Given the description of an element on the screen output the (x, y) to click on. 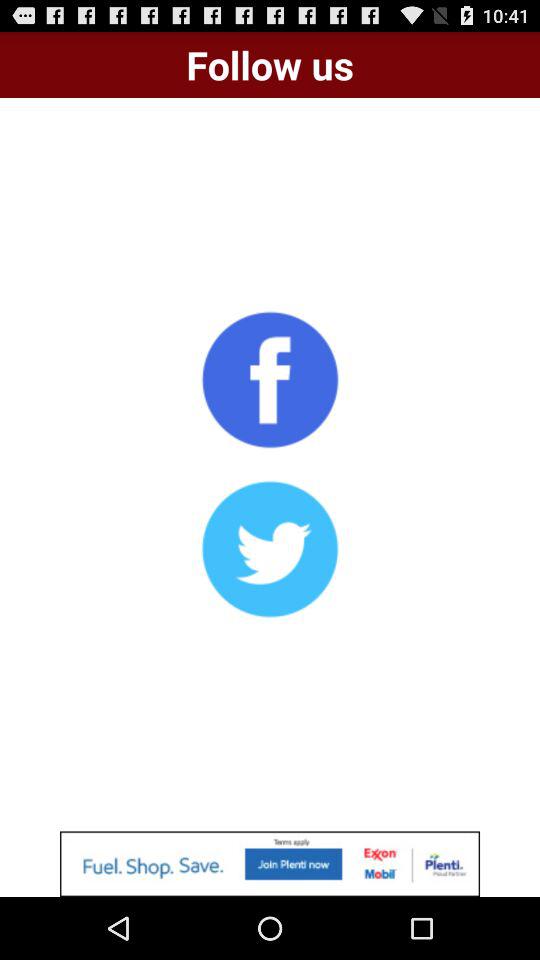
click add (270, 864)
